Given the description of an element on the screen output the (x, y) to click on. 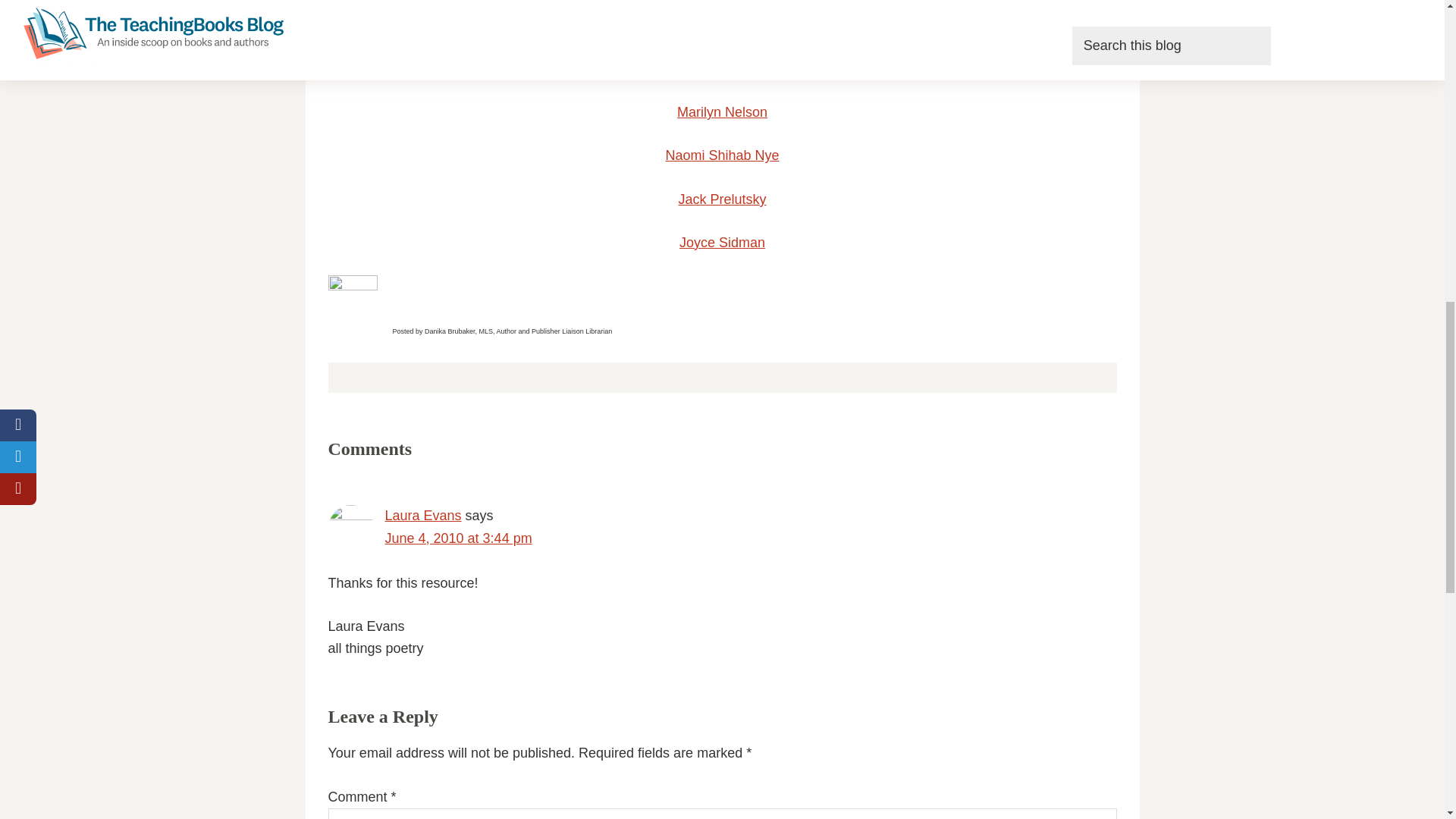
Joyce Sidman (722, 242)
J. Patrick Lewis (722, 68)
Naomi Shihab Nye (721, 155)
June 4, 2010 at 3:44 pm (458, 538)
Marilyn Nelson (722, 111)
Jack Prelutsky (721, 199)
Mary Ann Hoberman (721, 25)
Laura Evans (423, 515)
